Given the description of an element on the screen output the (x, y) to click on. 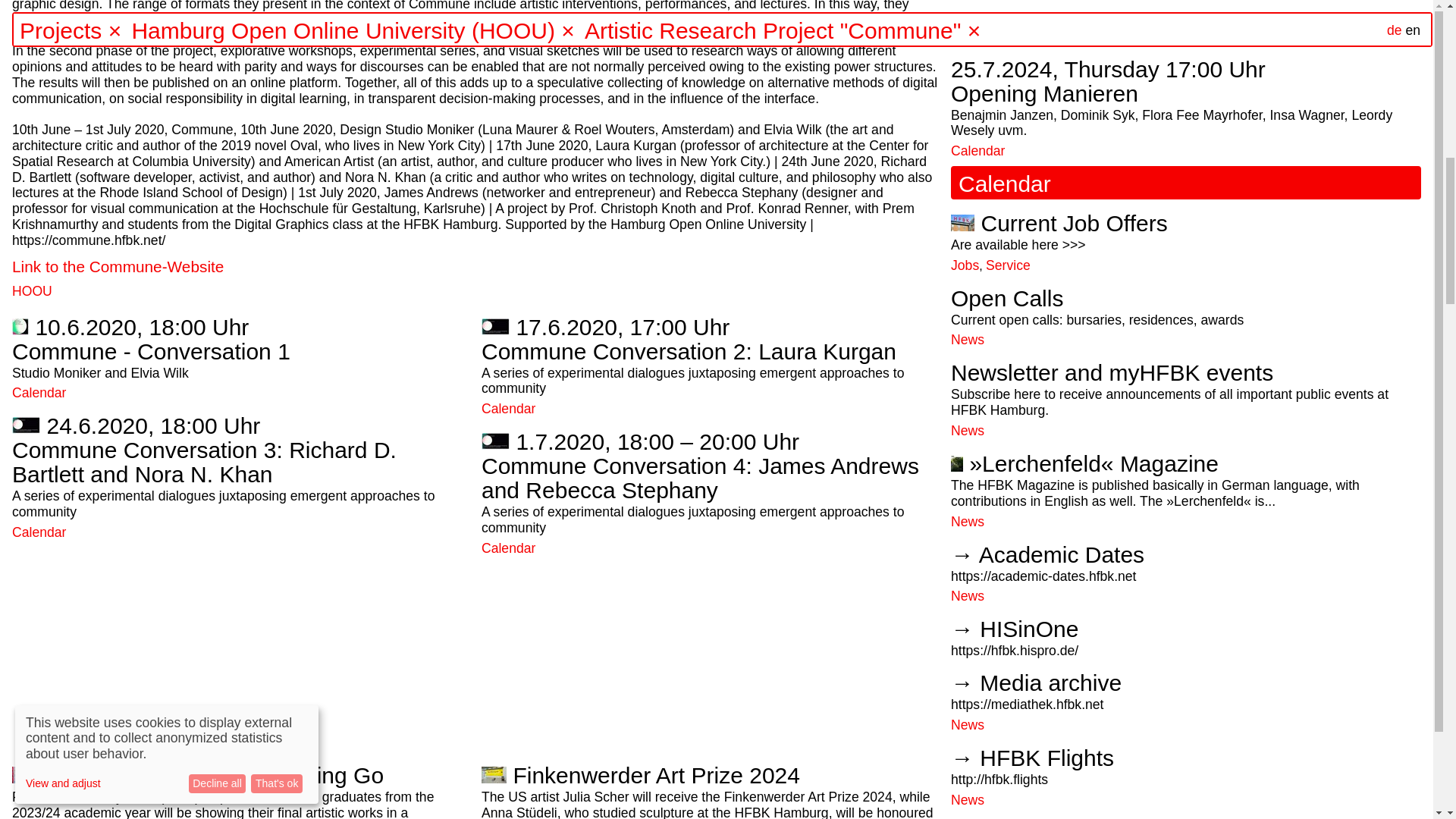
Calendar (38, 392)
Calendar (38, 531)
HOOU (31, 290)
Link to the Commune-Website (117, 266)
Calendar (508, 548)
Calendar (508, 408)
